Given the description of an element on the screen output the (x, y) to click on. 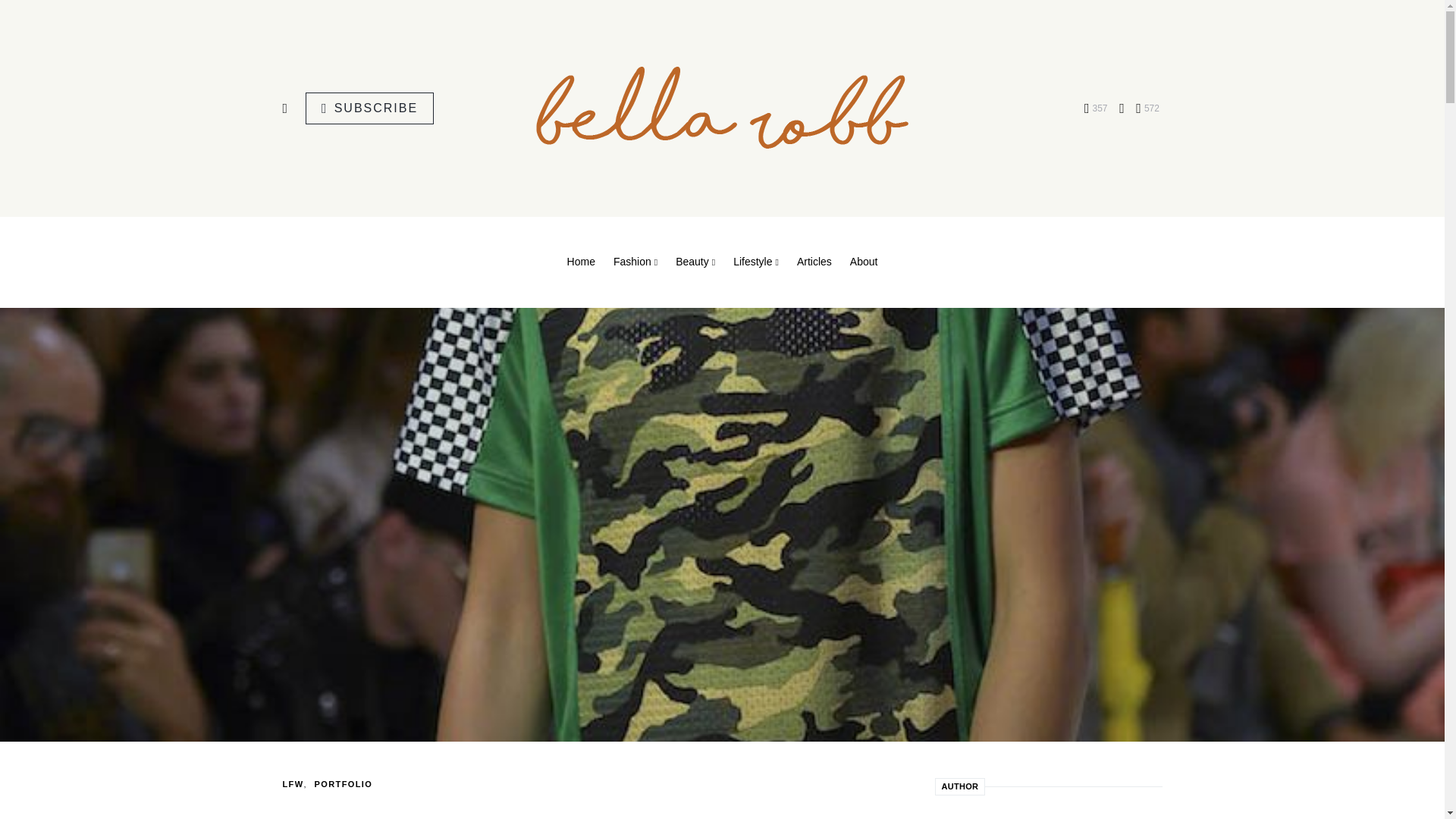
572 (1146, 108)
SUBSCRIBE (369, 108)
Home (585, 262)
Lifestyle (755, 262)
Beauty (694, 262)
357 (1096, 108)
Fashion (635, 262)
